Given the description of an element on the screen output the (x, y) to click on. 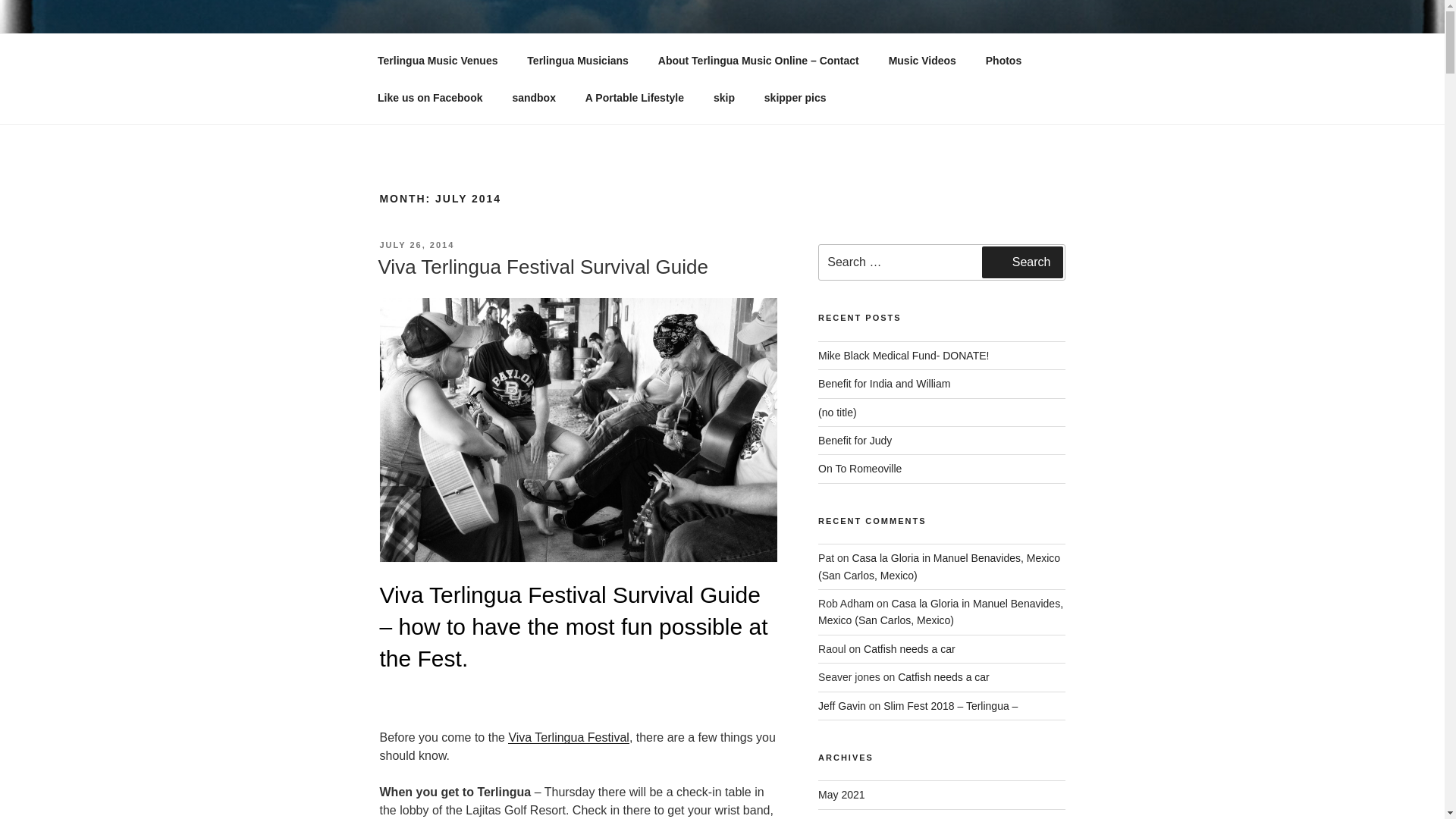
TERLINGUA MUSIC (521, 52)
JULY 26, 2014 (416, 244)
Music Videos (922, 60)
Like us on Facebook (429, 97)
skipper pics (795, 97)
Photos (1002, 60)
Viva Terlingua Festival Survival Guide (542, 266)
Terlingua Music Venues (437, 60)
Viva Terlingua Festival (568, 737)
sandbox (534, 97)
Terlingua Musicians (577, 60)
A Portable Lifestyle (634, 97)
skip (724, 97)
